Given the description of an element on the screen output the (x, y) to click on. 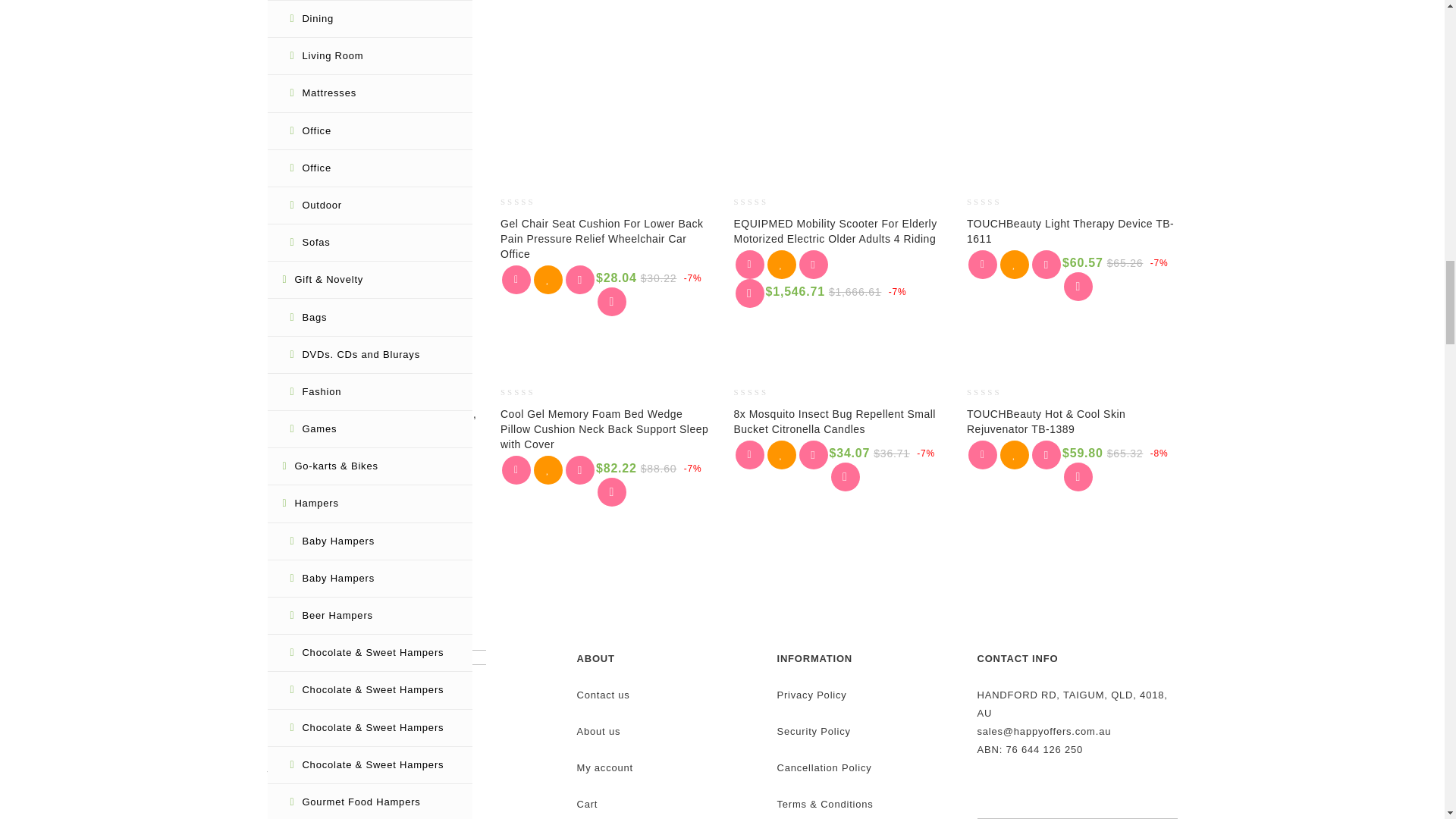
Not yet rated (993, 201)
Not yet rated (293, 26)
Not yet rated (293, 201)
Not yet rated (760, 201)
Not yet rated (526, 201)
